Given the description of an element on the screen output the (x, y) to click on. 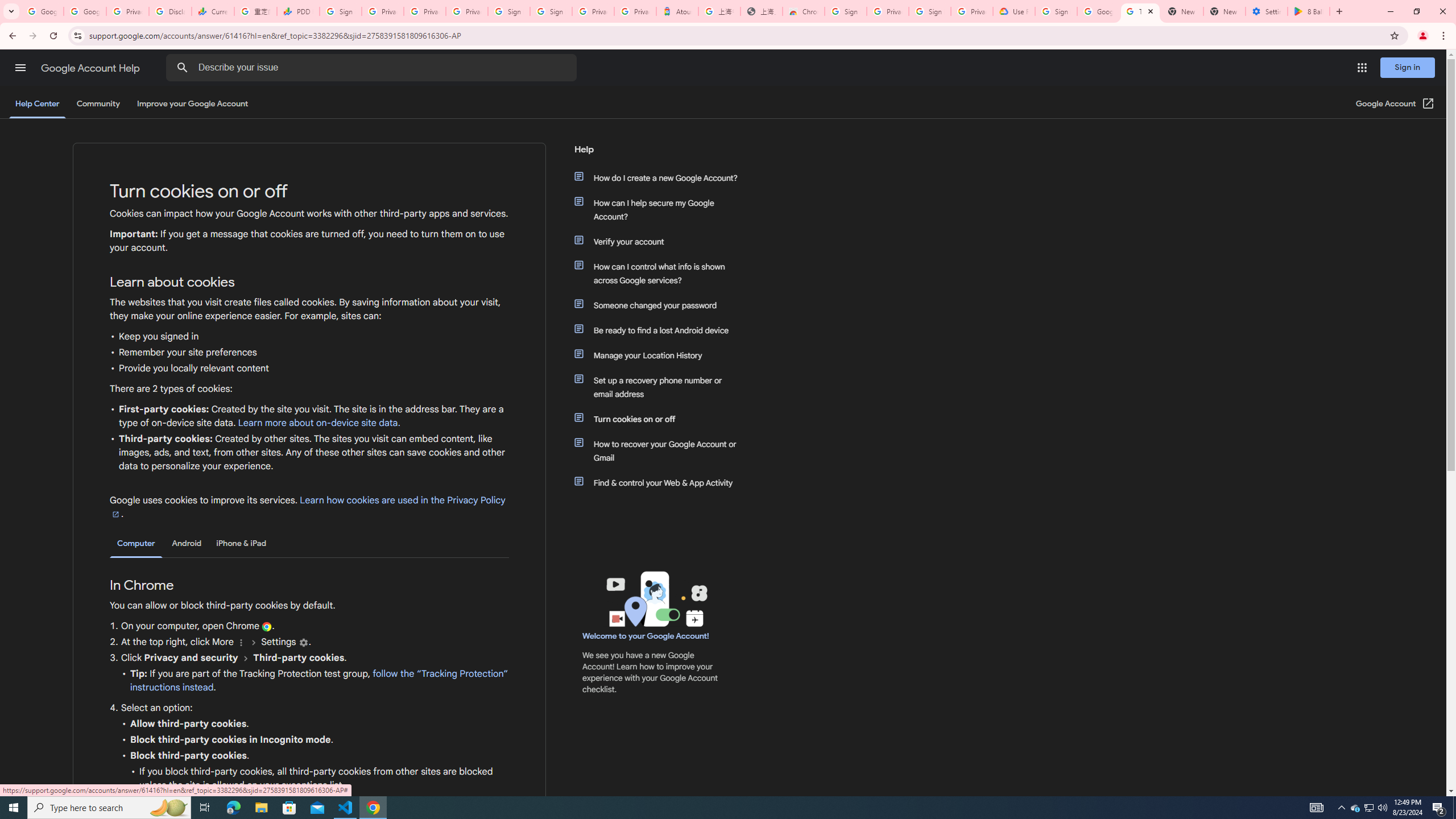
Google Account Help (1097, 11)
How do I create a new Google Account? (661, 177)
Manage your Location History (661, 355)
Main menu (20, 67)
Be ready to find a lost Android device (661, 330)
iPhone & iPad (240, 542)
Privacy Checkup (467, 11)
Learning Center home page image (655, 598)
Find & control your Web & App Activity (661, 482)
Chrome Web Store - Color themes by Chrome (803, 11)
Turn cookies on or off (661, 419)
Atour Hotel - Google hotels (676, 11)
